Given the description of an element on the screen output the (x, y) to click on. 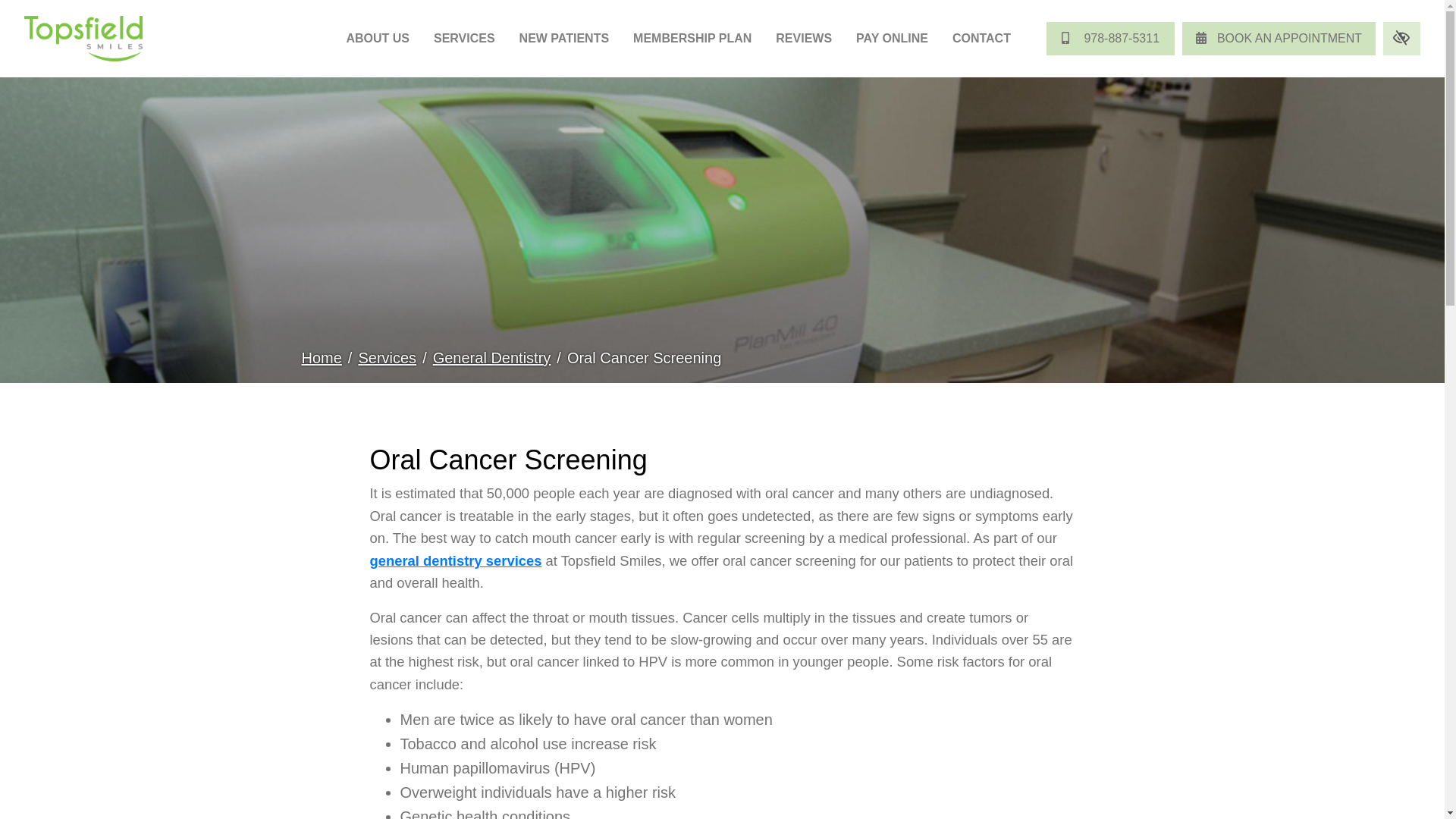
Home (321, 357)
Services (387, 357)
ABOUT US (377, 38)
General Dentistry (491, 357)
general dentistry services (455, 560)
Topsfield MA General Dentistry (455, 560)
978-887-5311 (1110, 38)
BOOK AN APPOINTMENT (1277, 38)
SKIP TO MAIN CONTENT (17, 8)
PAY ONLINE (892, 38)
